Given the description of an element on the screen output the (x, y) to click on. 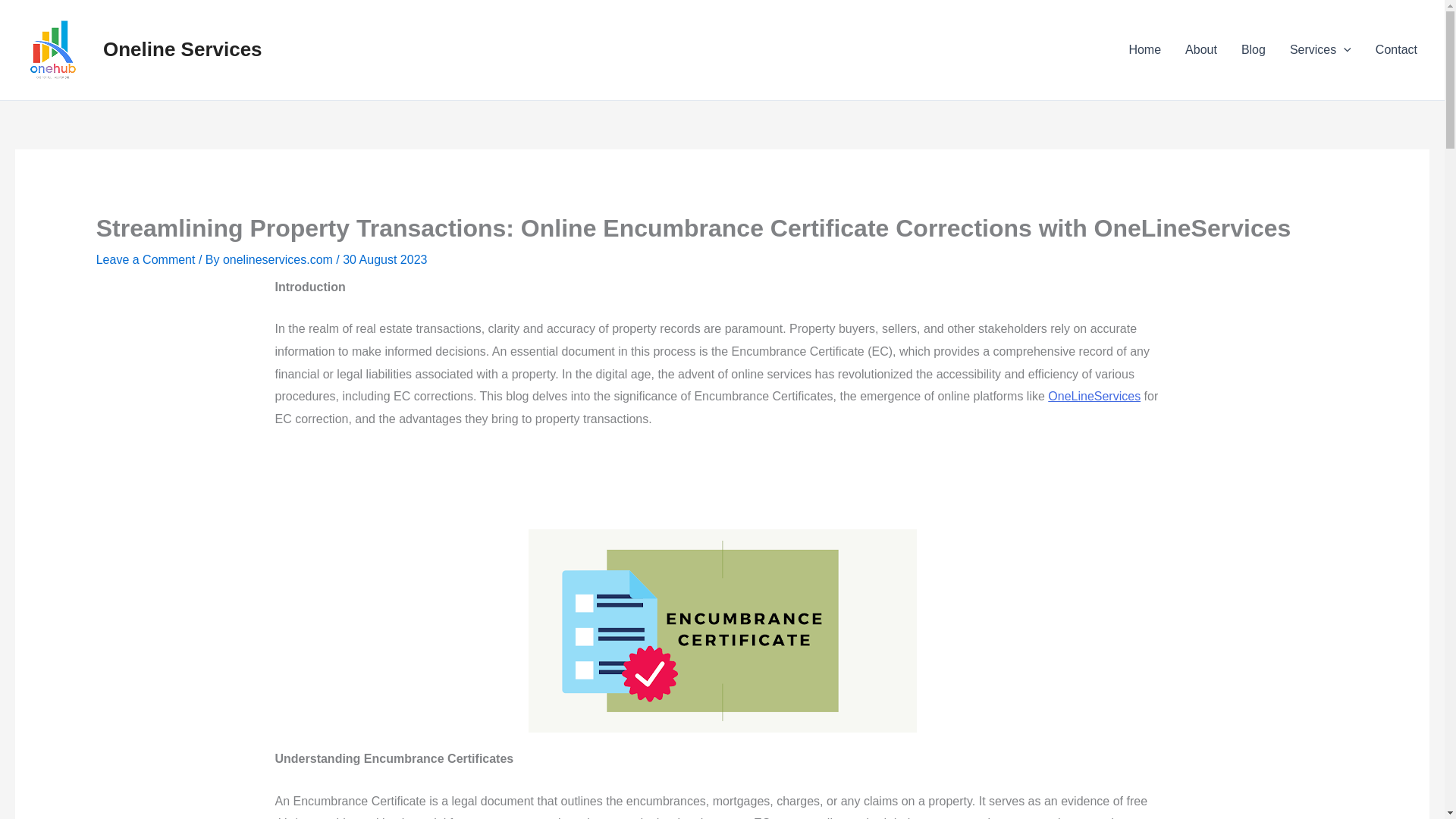
View all posts by onelineservices.com (279, 259)
About (1200, 49)
Contact (1395, 49)
Oneline Services (182, 48)
Home (1144, 49)
Services (1320, 49)
